Given the description of an element on the screen output the (x, y) to click on. 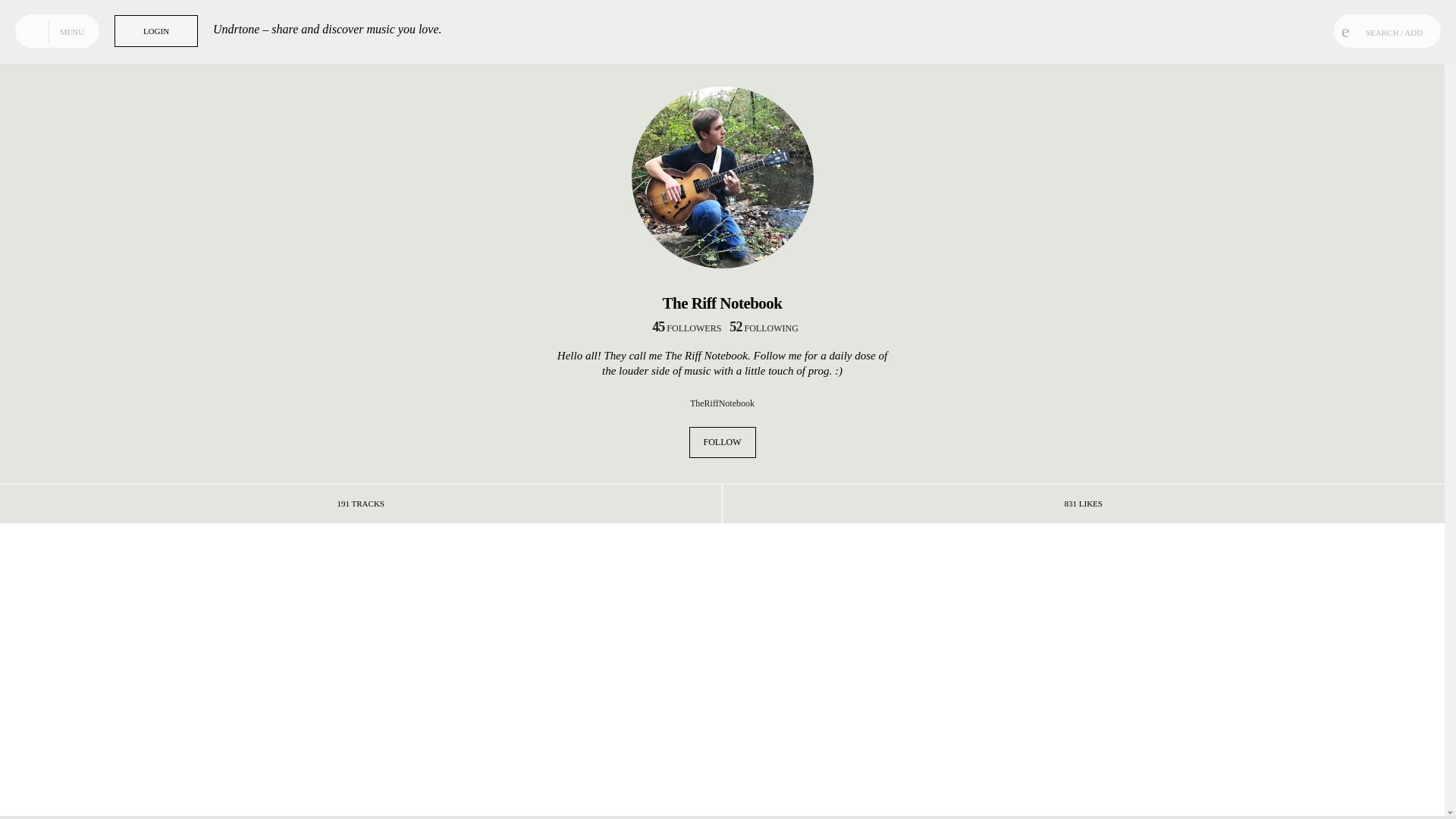
Create Account (394, 684)
Login (78, 797)
TheRiffNotebook (722, 403)
Trending Tags (68, 68)
Tracks (68, 40)
FAQs (55, 797)
TheRiffNotebook Following (760, 327)
45 FOLLOWERS (683, 327)
Press (41, 785)
Legal (93, 785)
